Given the description of an element on the screen output the (x, y) to click on. 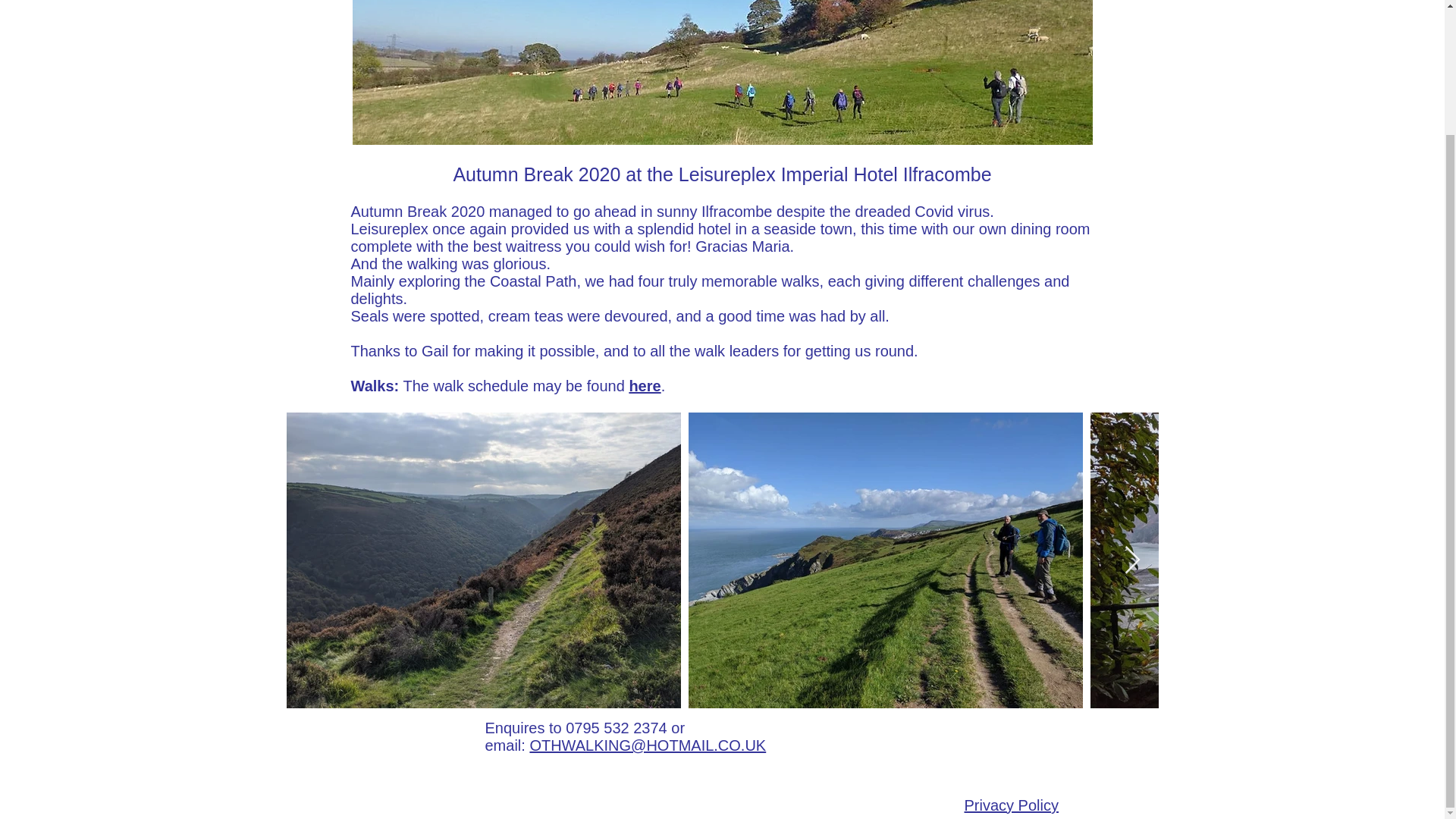
Privacy Policy (1010, 805)
here (644, 385)
